Given the description of an element on the screen output the (x, y) to click on. 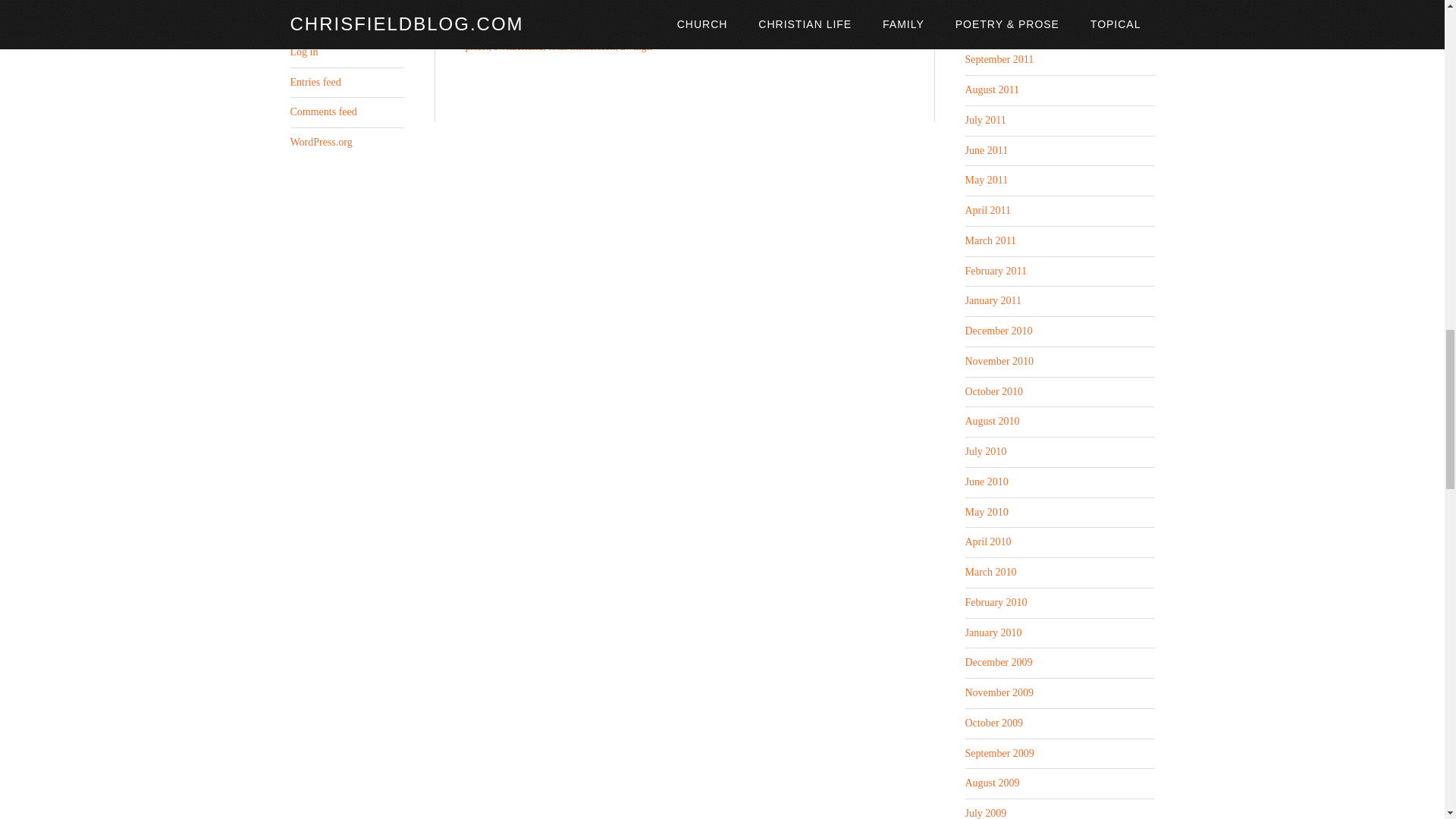
liberty (517, 29)
protestant (628, 29)
infant baptism (678, 20)
george blaurock (757, 11)
composer (526, 11)
public flogging (750, 29)
martyrs (585, 29)
felix manz (696, 11)
martyr (549, 29)
grisons (812, 11)
conrad grebel (582, 11)
rebaptism (808, 29)
protestantism (682, 29)
church tradition (681, 8)
evangelicals (641, 11)
